Given the description of an element on the screen output the (x, y) to click on. 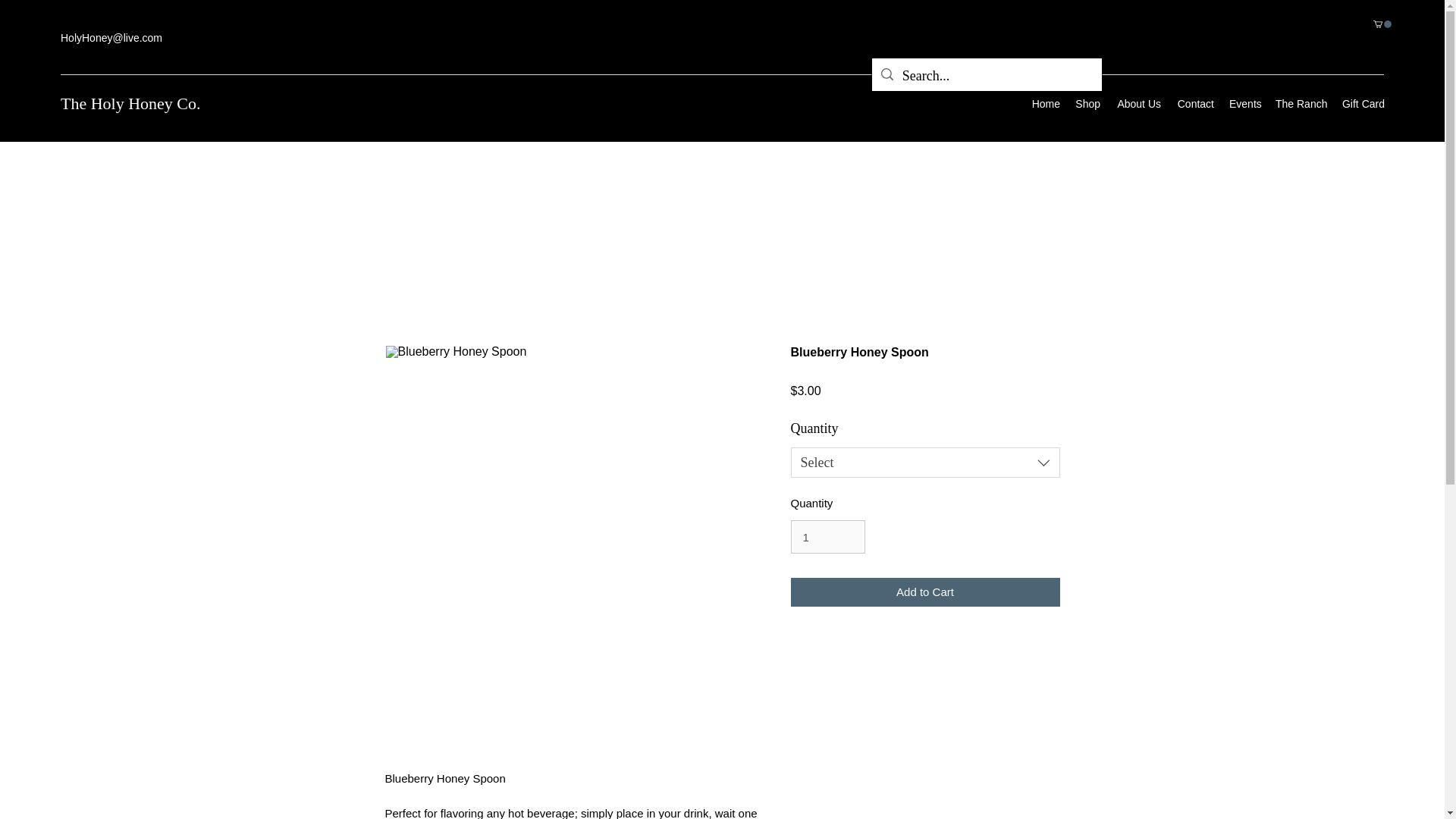
The Holy Honey Co. (130, 103)
1 (827, 536)
Add to Cart (924, 592)
Events (1244, 103)
Shop (1087, 103)
Home (1045, 103)
Gift Card (1362, 103)
The Ranch (1300, 103)
Contact (1195, 103)
Select (924, 462)
